Given the description of an element on the screen output the (x, y) to click on. 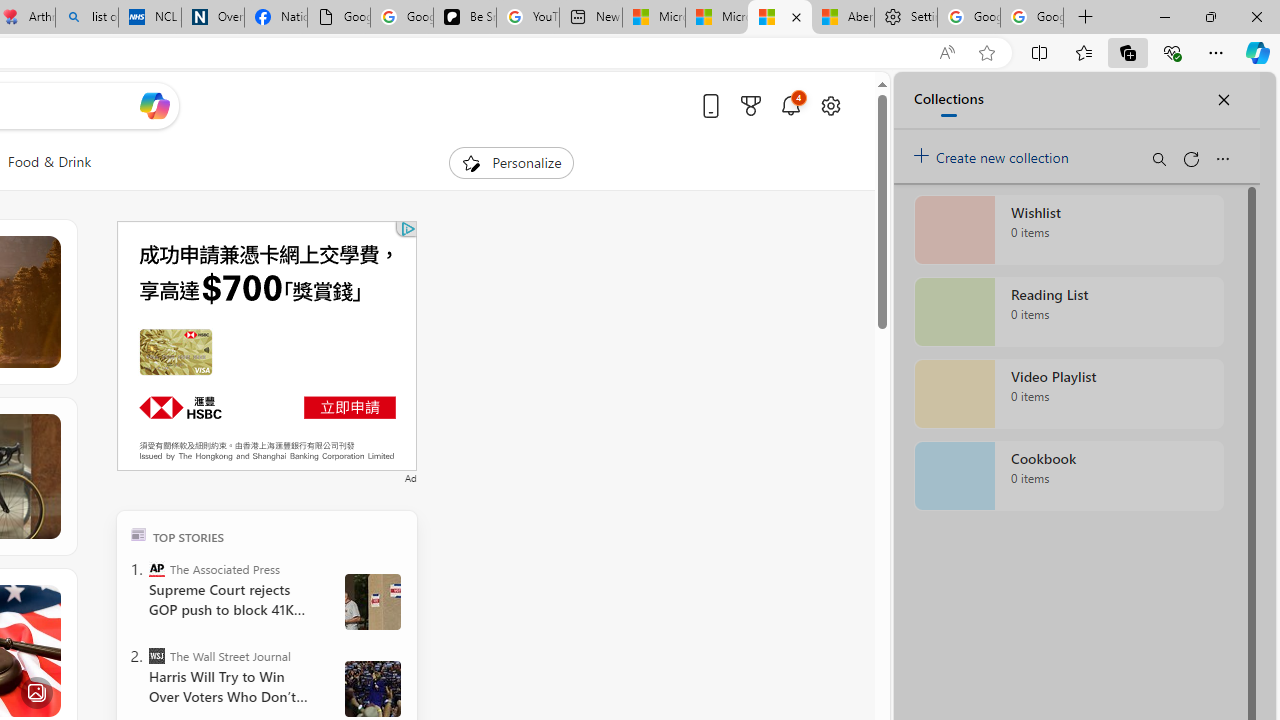
Class: qc-adchoices-icon (407, 228)
